Given the description of an element on the screen output the (x, y) to click on. 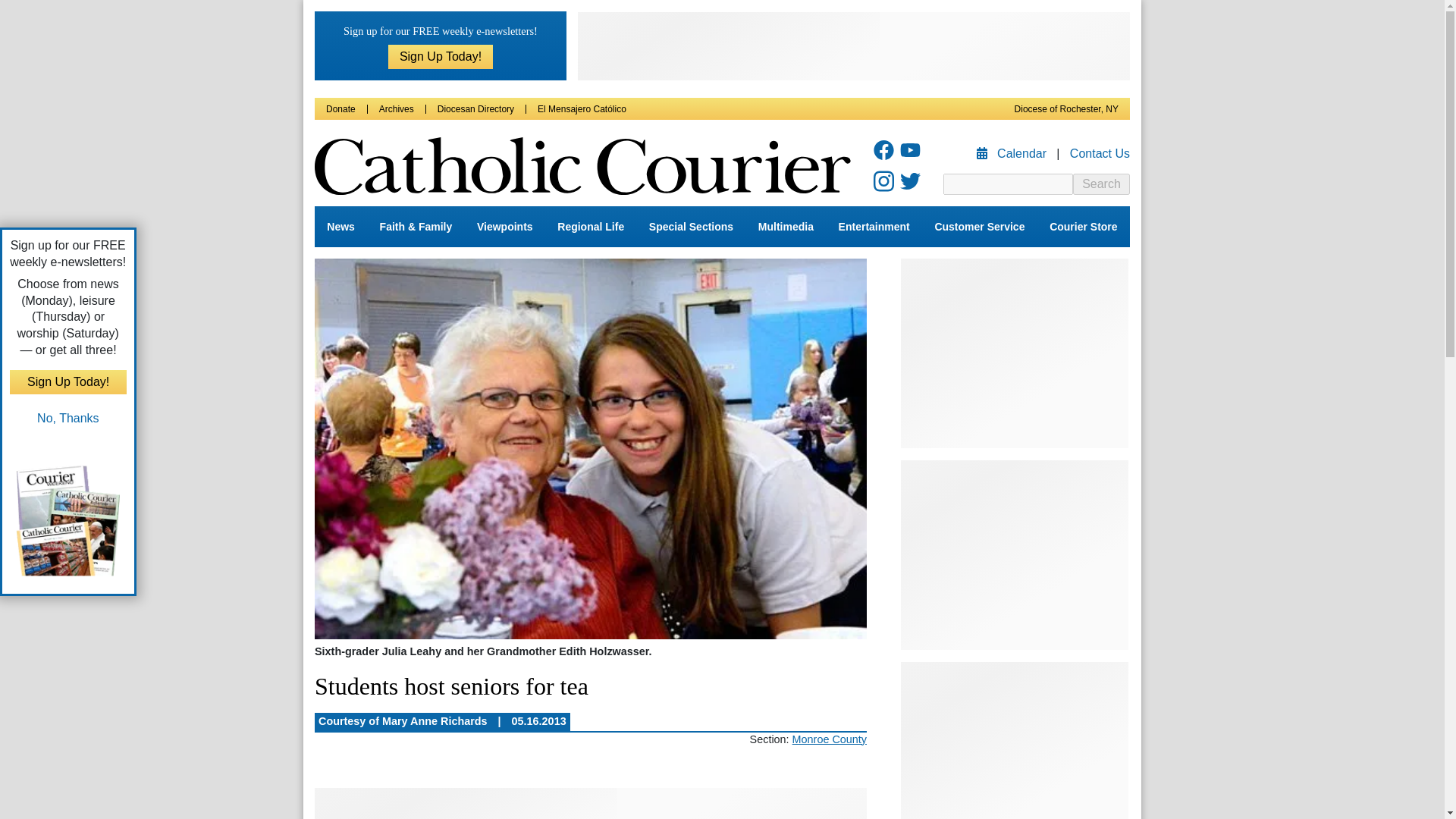
Students host seniors for tea (590, 450)
Contact Us (1099, 153)
Regional Life (590, 226)
Search (1101, 183)
3rd party ad content (853, 46)
Sign Up Today! (440, 56)
  Calendar (1012, 153)
Search (1101, 183)
Diocesan Directory (475, 108)
Donate (340, 108)
